Given the description of an element on the screen output the (x, y) to click on. 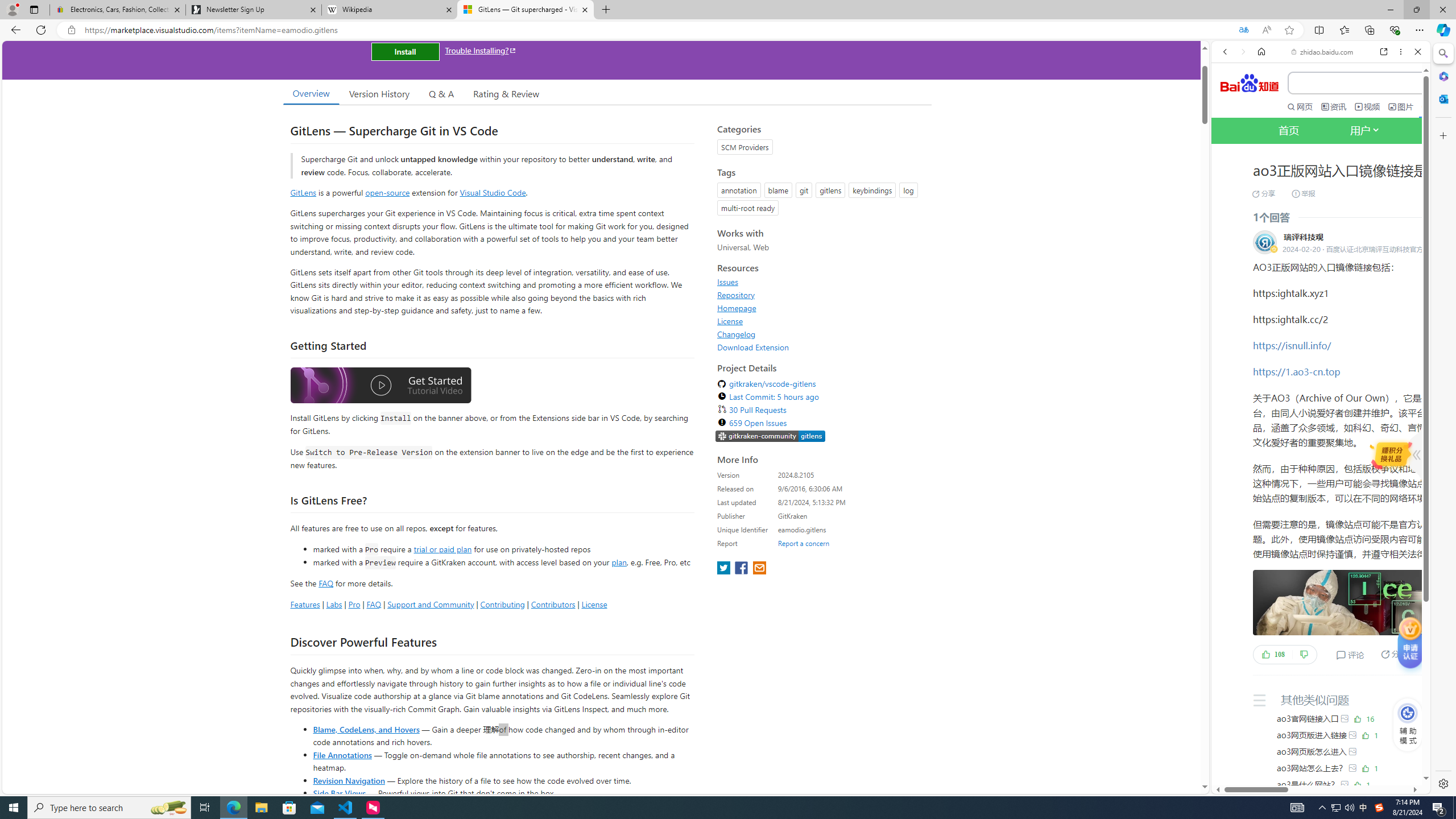
Watch the GitLens Getting Started video (380, 387)
zhidao.baidu.com (1322, 51)
Learn more (1264, 154)
English (Uk) (1320, 353)
Watch the GitLens Getting Started video (380, 385)
share extension on twitter (724, 568)
This site scope (1259, 102)
Contributing (502, 603)
Forward (1242, 51)
